Given the description of an element on the screen output the (x, y) to click on. 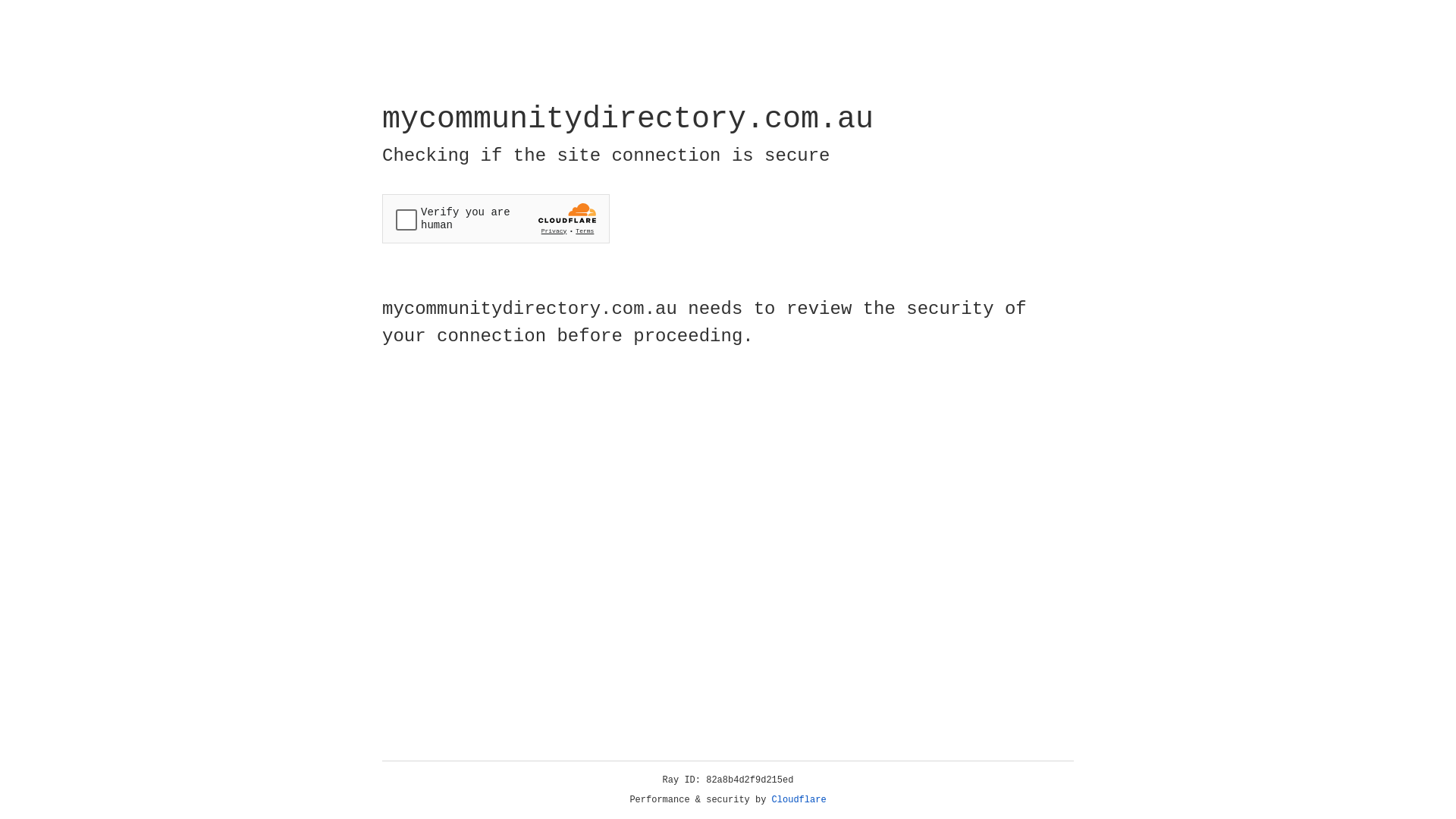
Cloudflare Element type: text (798, 799)
Widget containing a Cloudflare security challenge Element type: hover (495, 218)
